Given the description of an element on the screen output the (x, y) to click on. 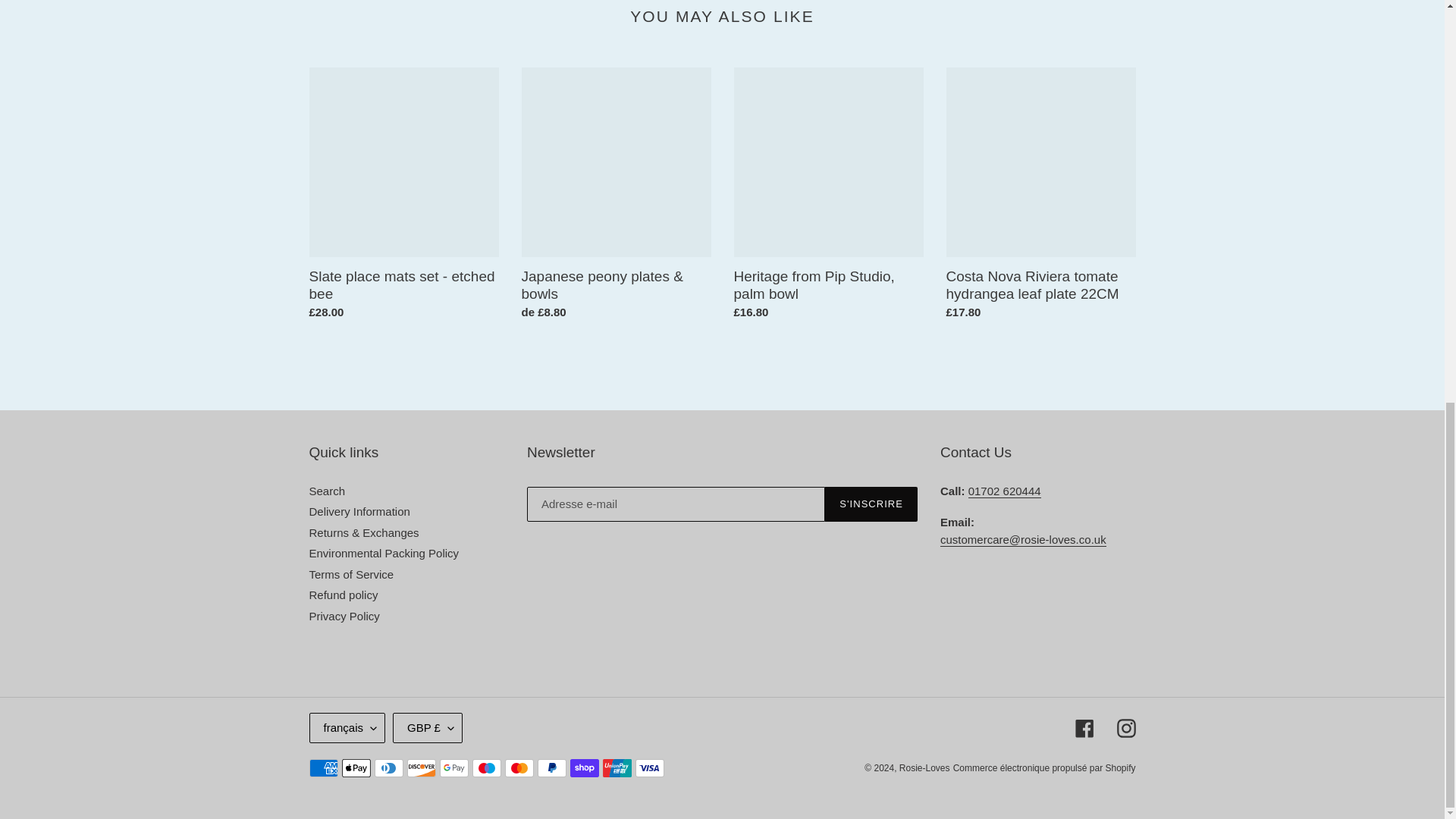
tel:01702620444 (1004, 490)
